Given the description of an element on the screen output the (x, y) to click on. 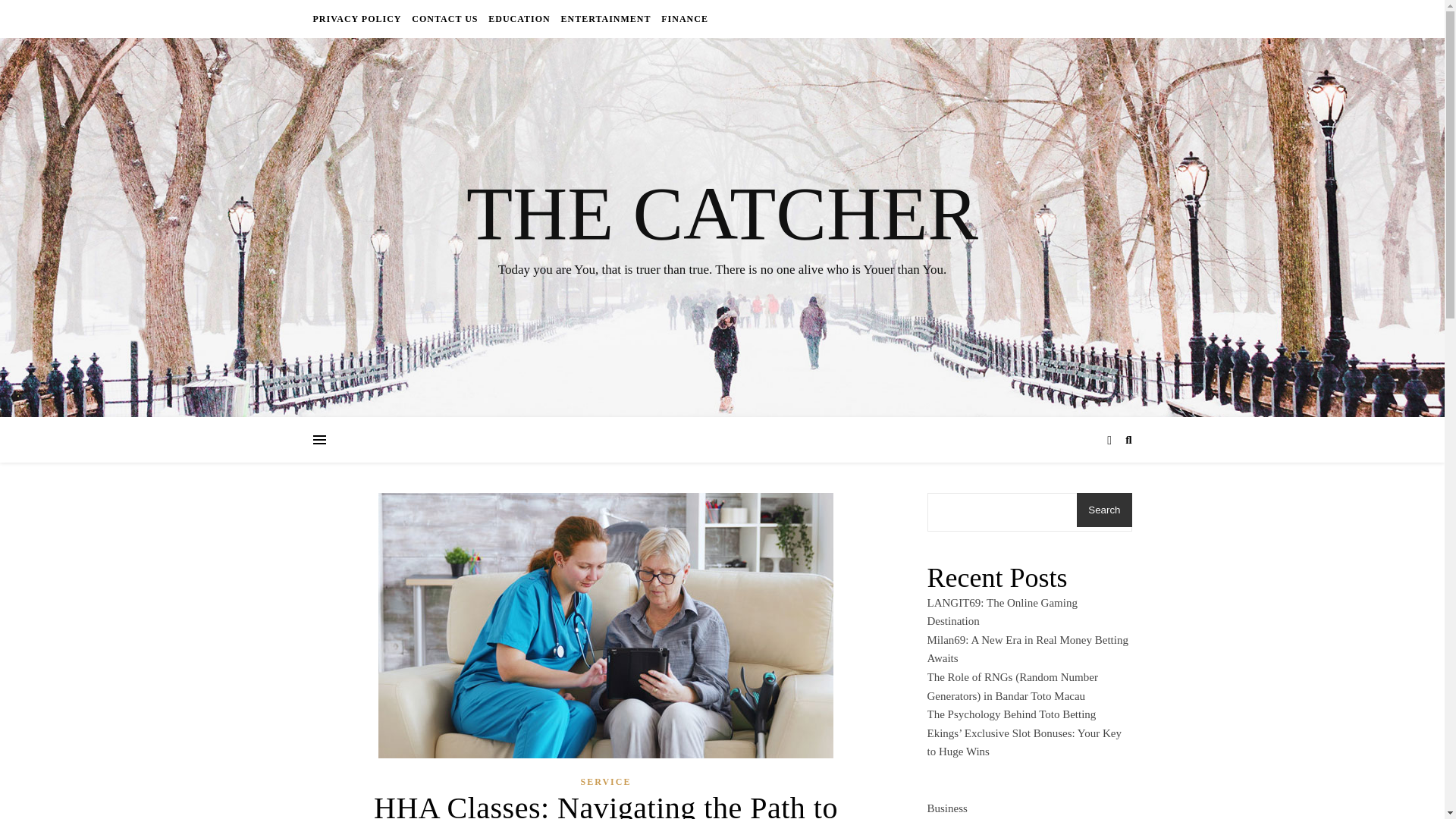
Milan69: A New Era in Real Money Betting Awaits (1026, 649)
EDUCATION (518, 18)
ENTERTAINMENT (604, 18)
The Psychology Behind Toto Betting (1011, 714)
FINANCE (682, 18)
Search (1104, 510)
LANGIT69: The Online Gaming Destination (1001, 612)
Business (946, 805)
CONTACT US (444, 18)
SERVICE (605, 782)
PRIVACY POLICY (358, 18)
